Given the description of an element on the screen output the (x, y) to click on. 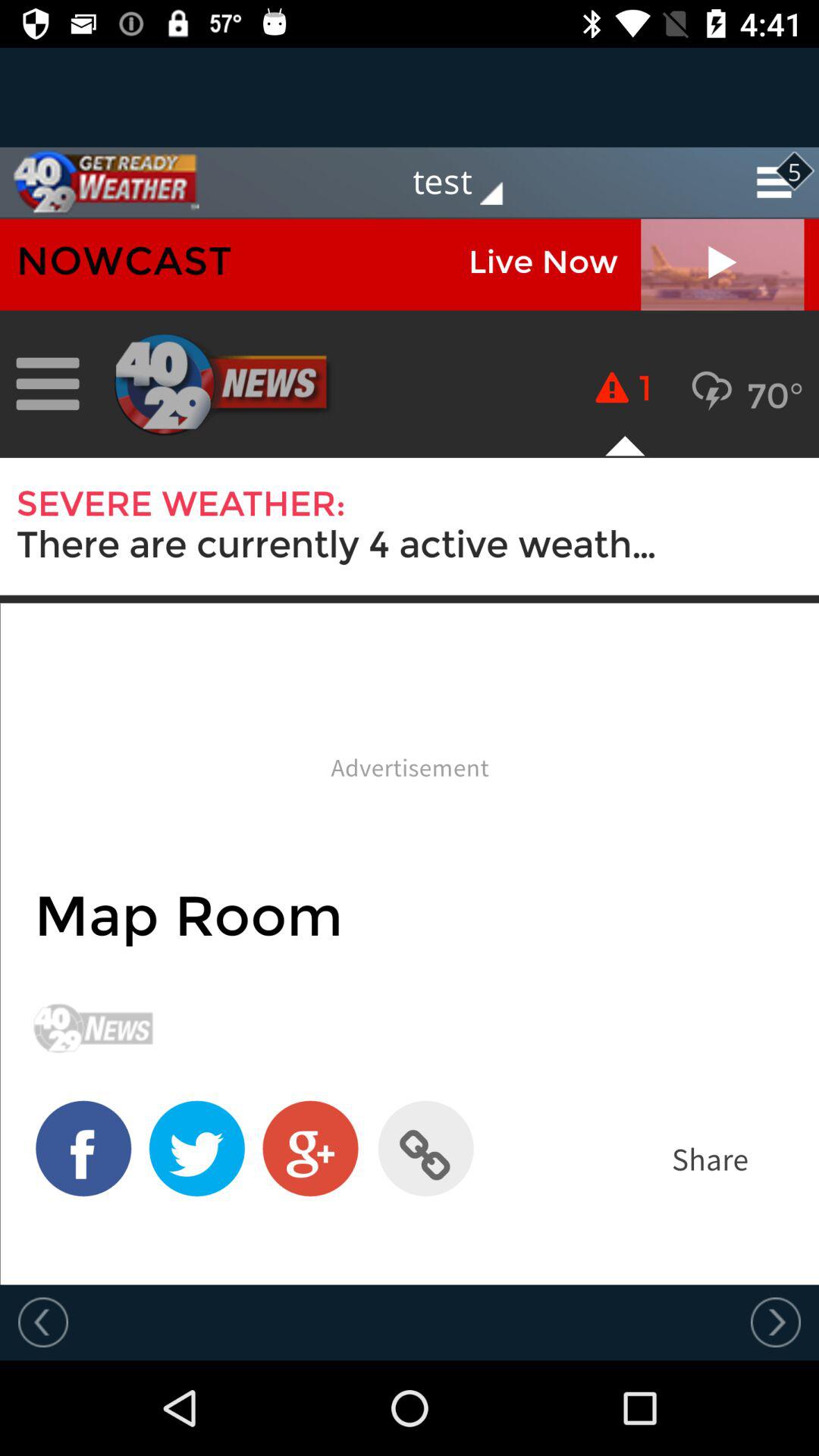
home page (99, 182)
